Given the description of an element on the screen output the (x, y) to click on. 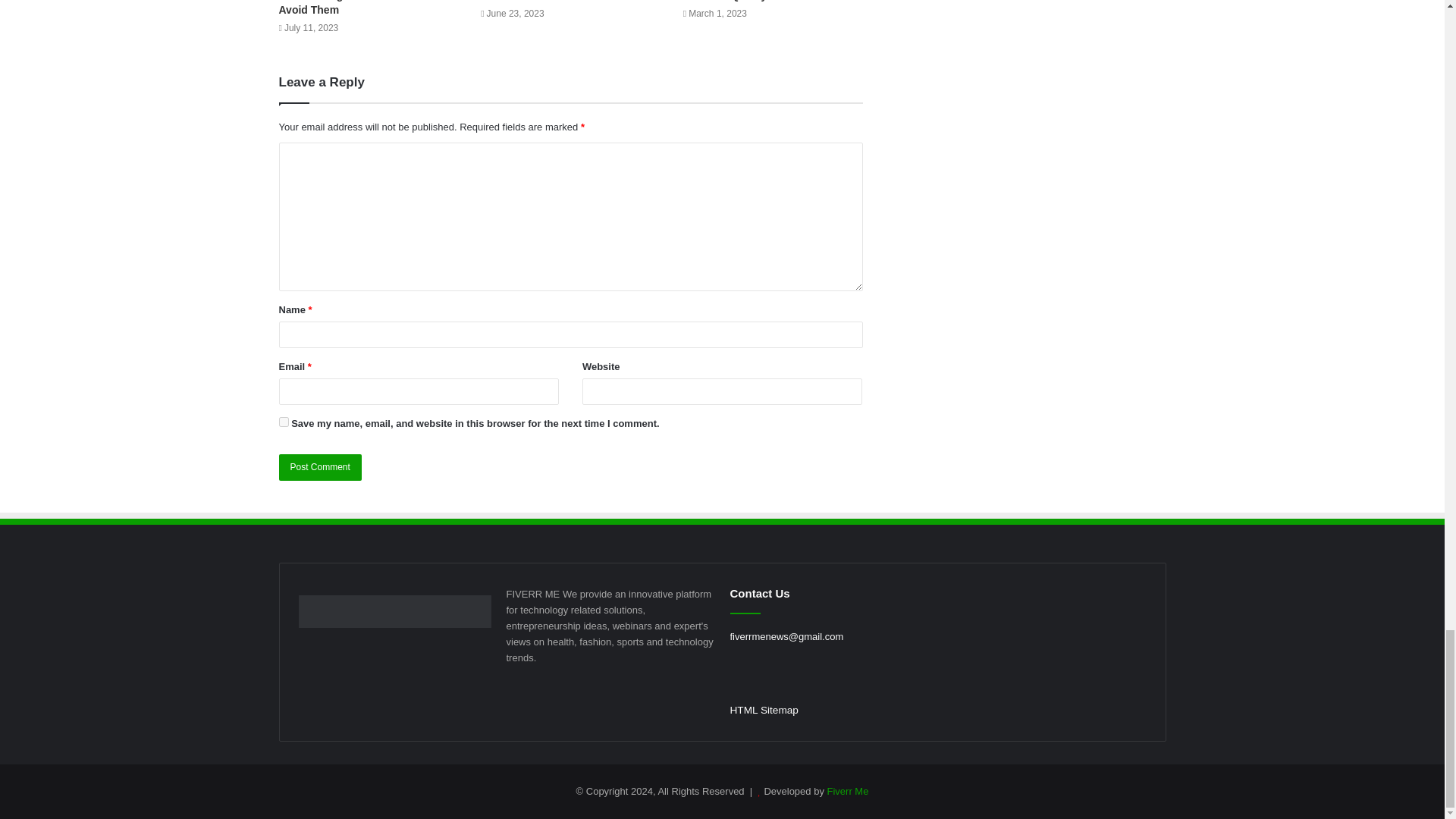
yes (283, 421)
Post Comment (320, 467)
